Given the description of an element on the screen output the (x, y) to click on. 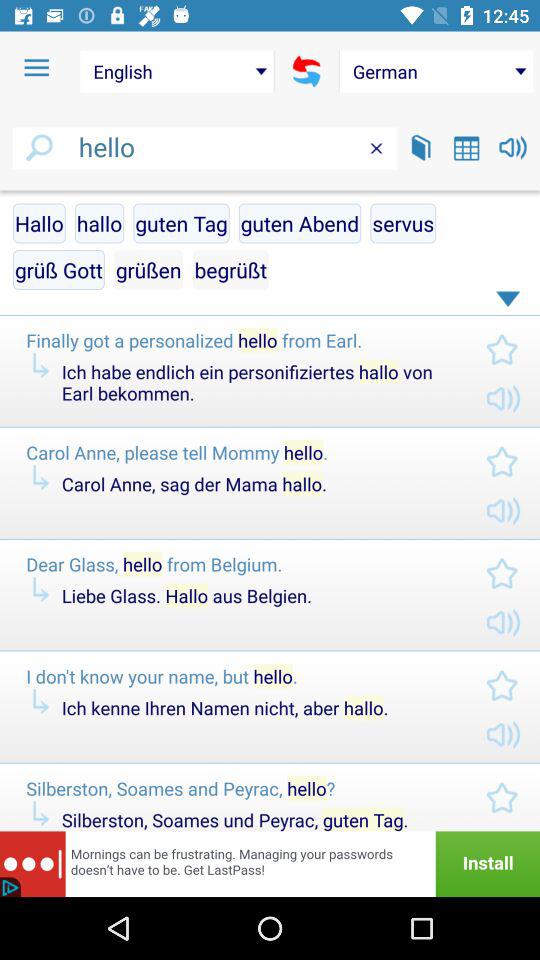
turn off item to the left of english item (36, 68)
